Given the description of an element on the screen output the (x, y) to click on. 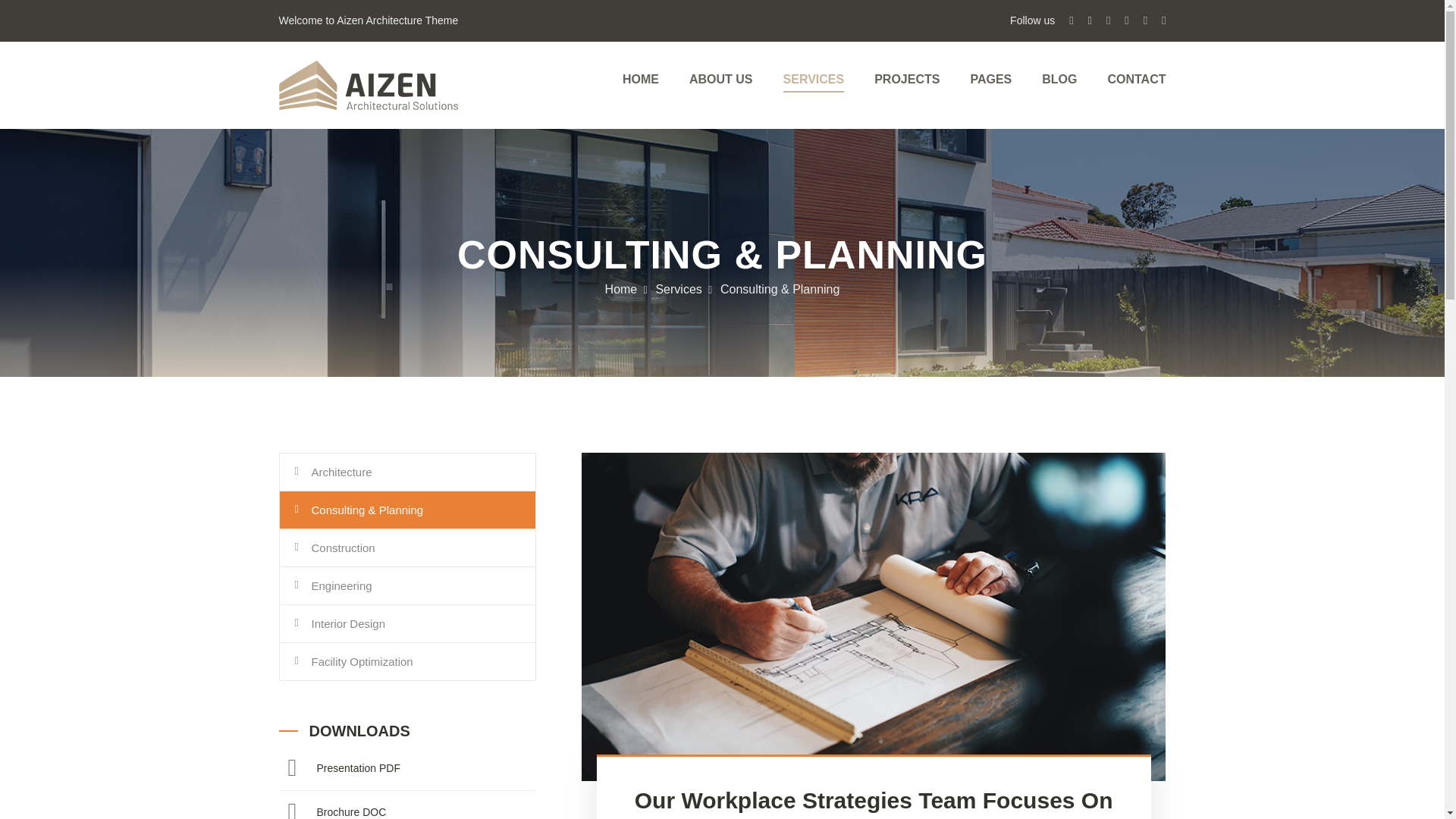
Construction (407, 547)
SERVICES (813, 80)
Home (621, 288)
PROJECTS (907, 80)
CONTACT (1136, 80)
Engineering (407, 585)
Architecture (407, 471)
ABOUT US (720, 80)
Aizen - Architecture Template (368, 84)
BLOG (1059, 80)
HOME (641, 80)
Services (678, 288)
PAGES (990, 80)
